Given the description of an element on the screen output the (x, y) to click on. 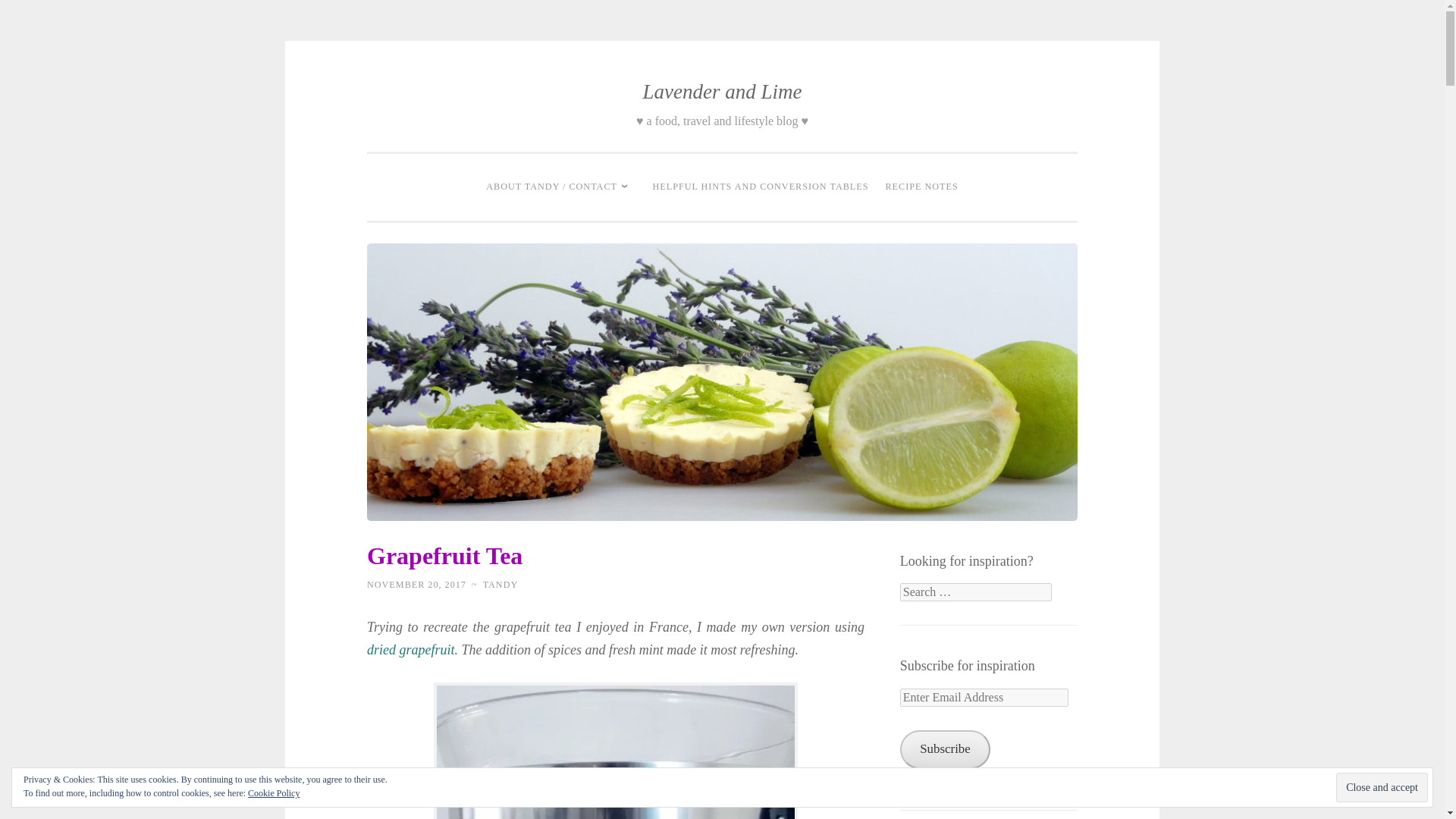
NOVEMBER 20, 2017 (415, 584)
Lavender and Lime (722, 91)
RECIPE NOTES (920, 186)
Close and accept (1382, 787)
dried grapefruit (410, 649)
TANDY (500, 584)
HELPFUL HINTS AND CONVERSION TABLES (761, 186)
